Given the description of an element on the screen output the (x, y) to click on. 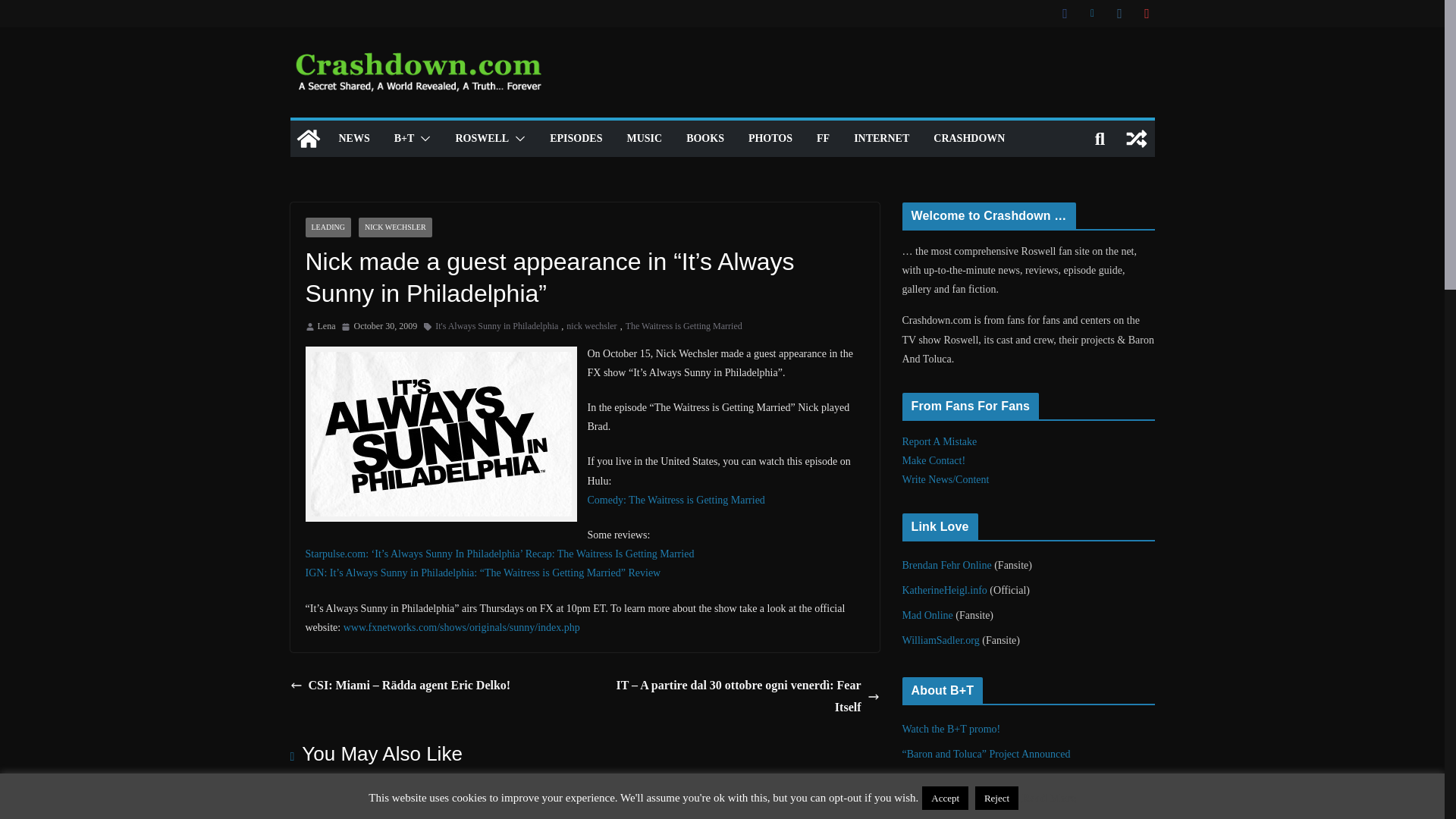
The Waitress is Getting Married (684, 326)
BOOKS (704, 138)
View a random post (1136, 138)
Lena (325, 326)
It's Always Sunny in Philadelphia (496, 326)
9:17 am (378, 326)
MUSIC (644, 138)
INTERNET (880, 138)
NICK WECHSLER (395, 227)
ROSWELL (481, 138)
nick wechsler (590, 326)
LEADING (327, 227)
CRASHDOWN (968, 138)
Crashdown.com (307, 138)
EPISODES (576, 138)
